Given the description of an element on the screen output the (x, y) to click on. 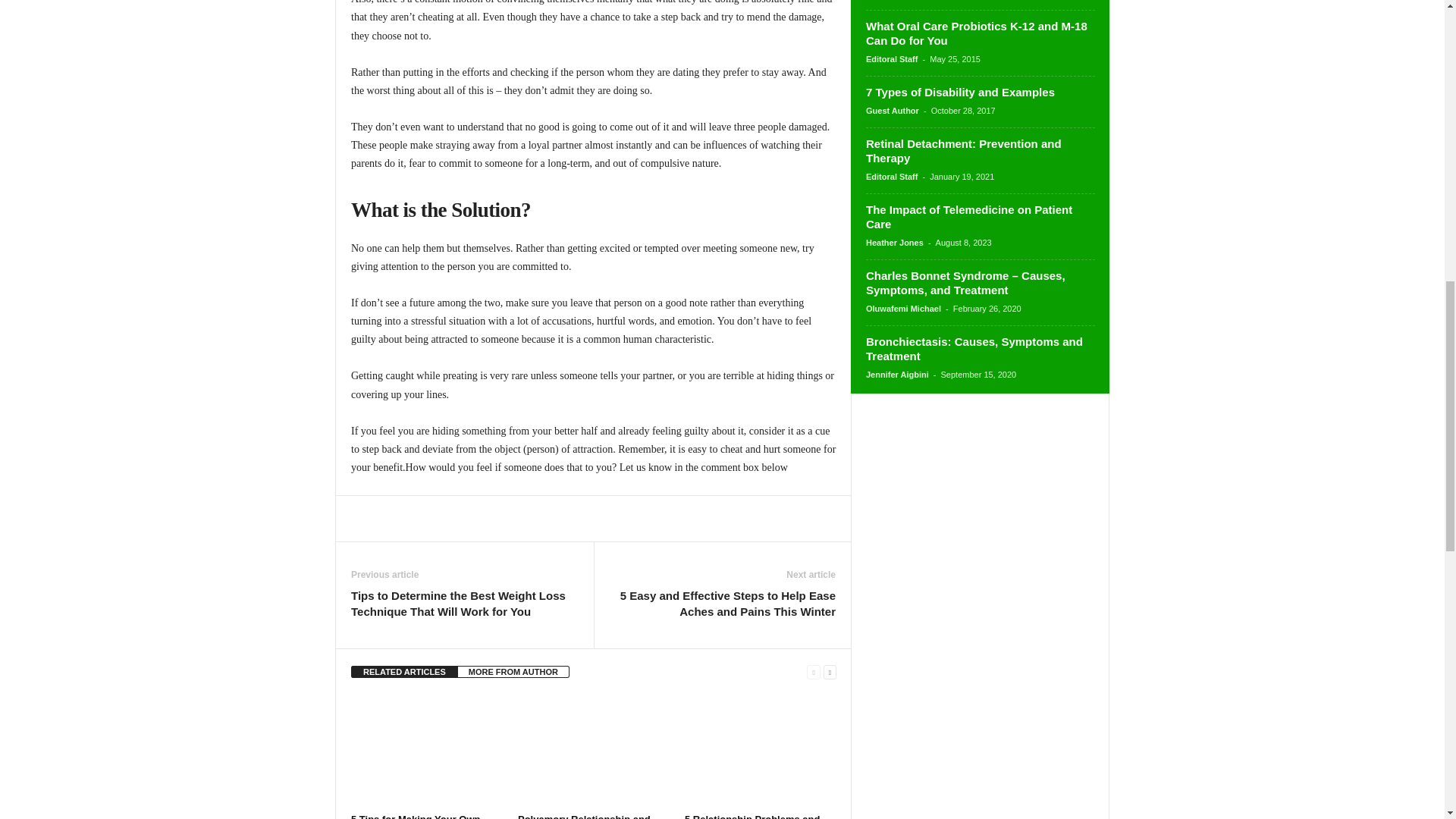
5 Tips for Making Your Own Wedding Bouquet (426, 751)
